Given the description of an element on the screen output the (x, y) to click on. 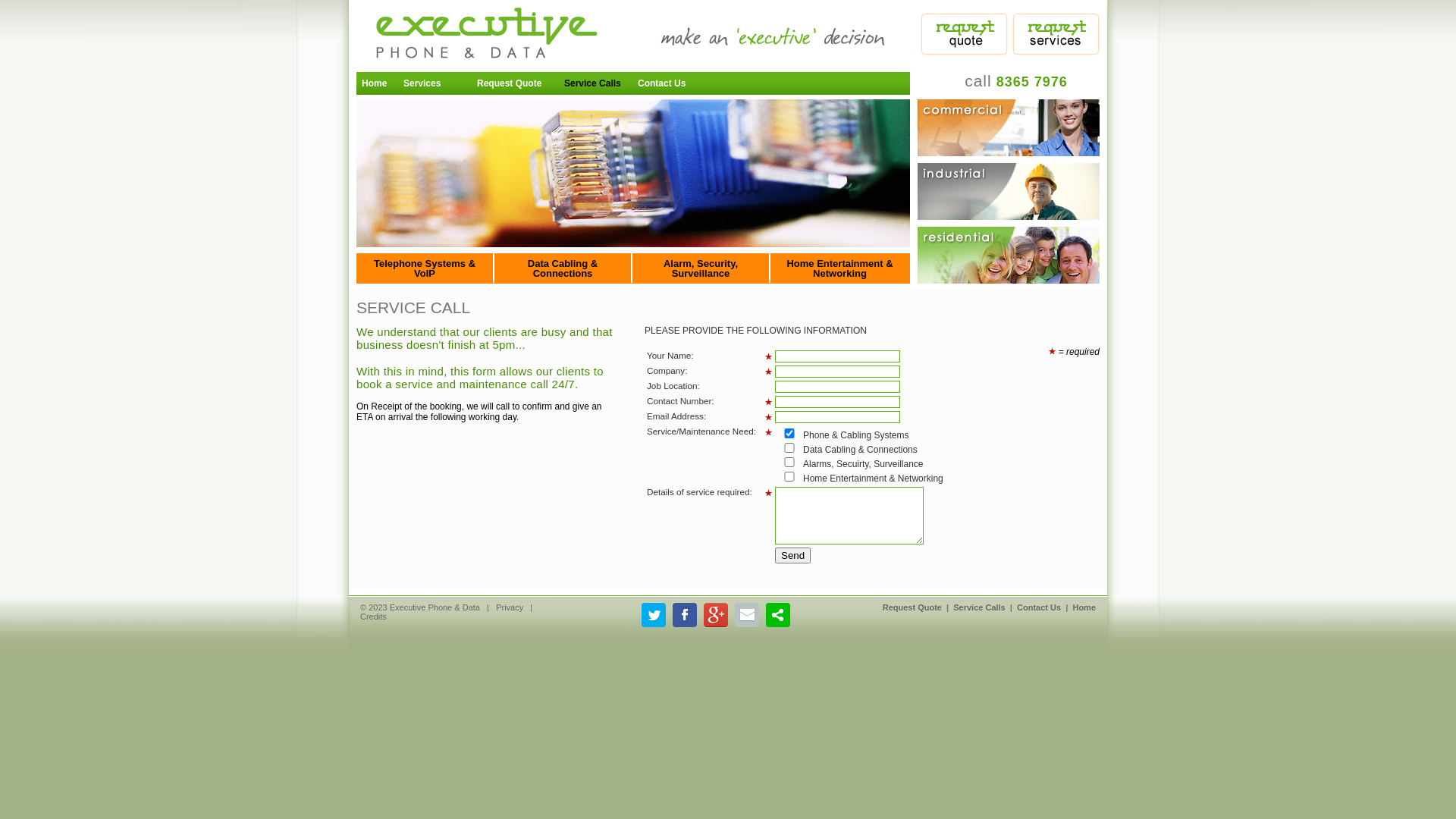
Privacy Element type: text (509, 606)
Services Element type: text (434, 81)
Service Calls Element type: text (595, 81)
Home Element type: text (1083, 606)
industrial services Element type: hover (1008, 191)
Contact Us Element type: text (669, 81)
Request Quote Element type: text (514, 81)
Telephone Systems & VoIP Element type: text (425, 267)
request a quote Element type: hover (964, 33)
make an executive decision Element type: hover (784, 33)
Service Calls Element type: text (979, 606)
Data Cabling & Connections Element type: text (563, 267)
Home Entertainment & Networking Element type: text (839, 267)
Contact Us Element type: text (1038, 606)
Credits Element type: text (373, 616)
Request Quote Element type: text (911, 606)
Home Element type: text (377, 81)
Alarm, Security, Surveillance Element type: text (701, 267)
commercial services Element type: hover (1008, 127)
residential services Element type: hover (1008, 254)
Executive phone & data Element type: hover (477, 36)
Send Element type: text (792, 555)
request service Element type: hover (1055, 33)
